Given the description of an element on the screen output the (x, y) to click on. 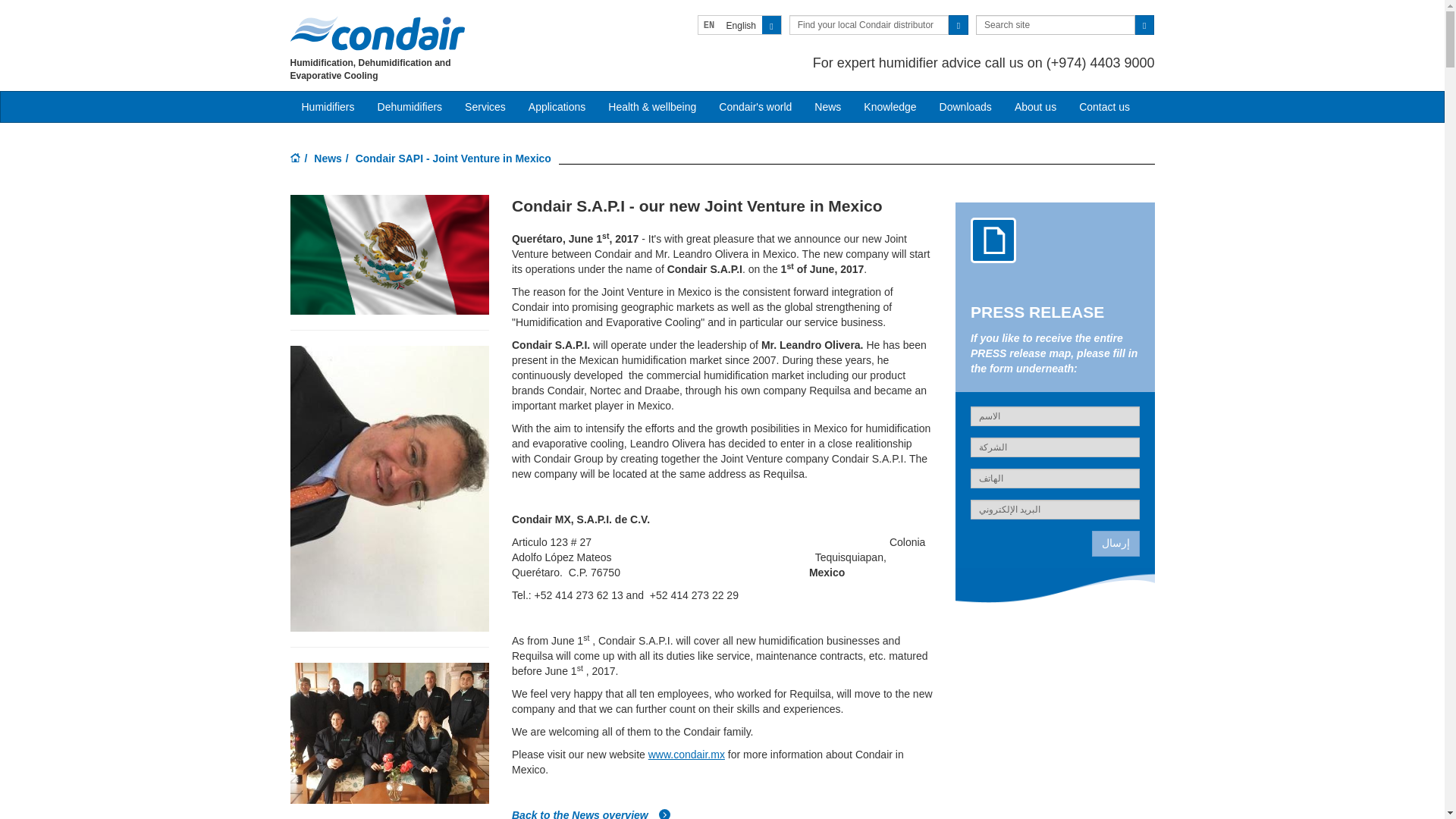
Applications (556, 106)
Dehumidifiers (410, 106)
Website Condair in Mexico (686, 754)
Humidifiers (327, 106)
Condair (376, 32)
Services (484, 106)
Team of Condair Mexico (388, 732)
EN English (739, 25)
Mexican Flag (388, 254)
